Given the description of an element on the screen output the (x, y) to click on. 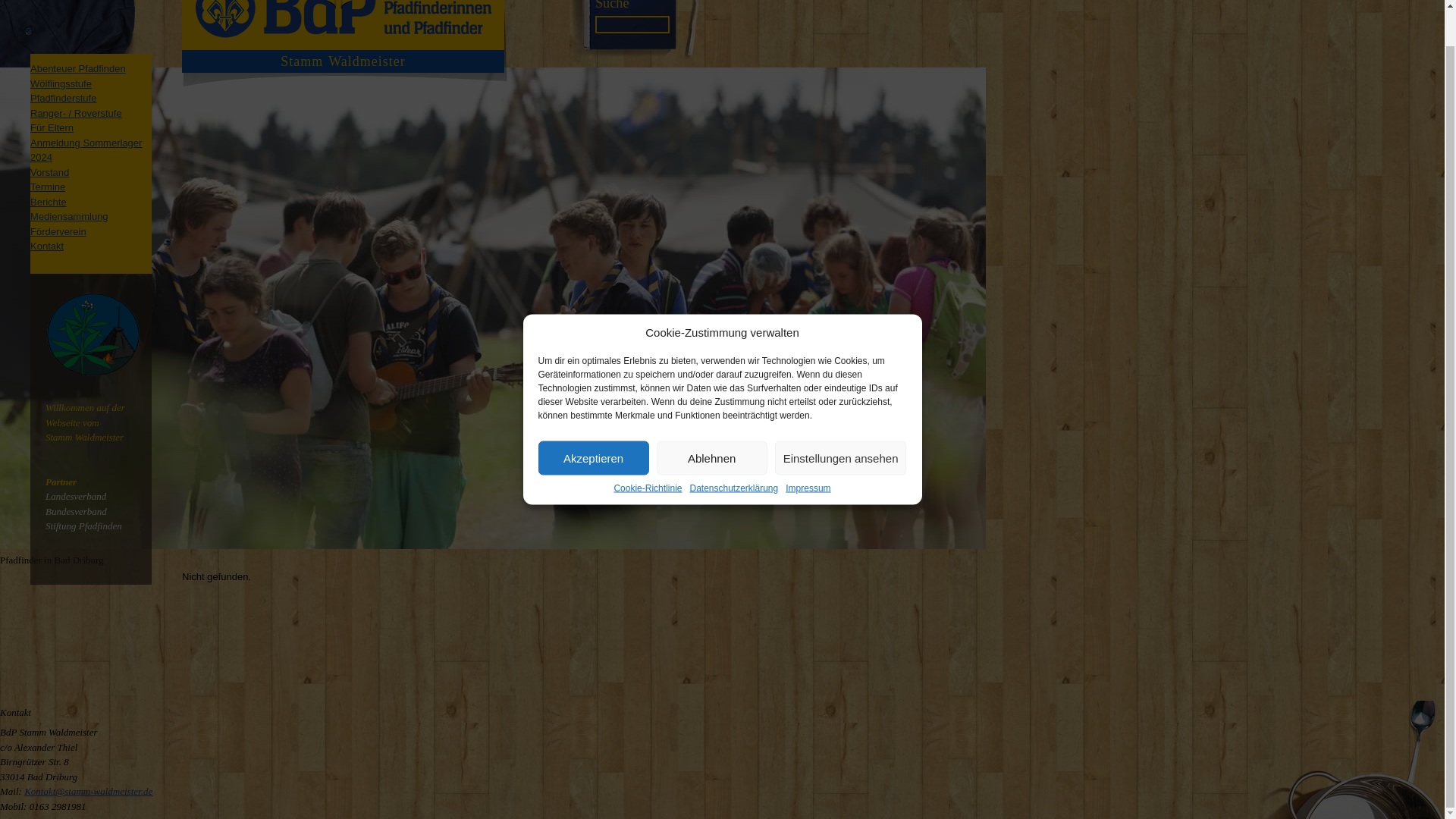
Akzeptieren (593, 421)
Anmeldung Sommerlager 2024 (85, 150)
Landesverband (75, 496)
Pfadfinderstufe (63, 98)
Impressum (807, 450)
Vorstand (49, 172)
Suche (611, 5)
Bundesverband (75, 511)
Berichte (48, 202)
Einstellungen ansehen (840, 421)
Stiftung Pfadfinden (83, 525)
Query search (611, 5)
Ablehnen (711, 421)
Termine (47, 186)
Mediensammlung (68, 215)
